Given the description of an element on the screen output the (x, y) to click on. 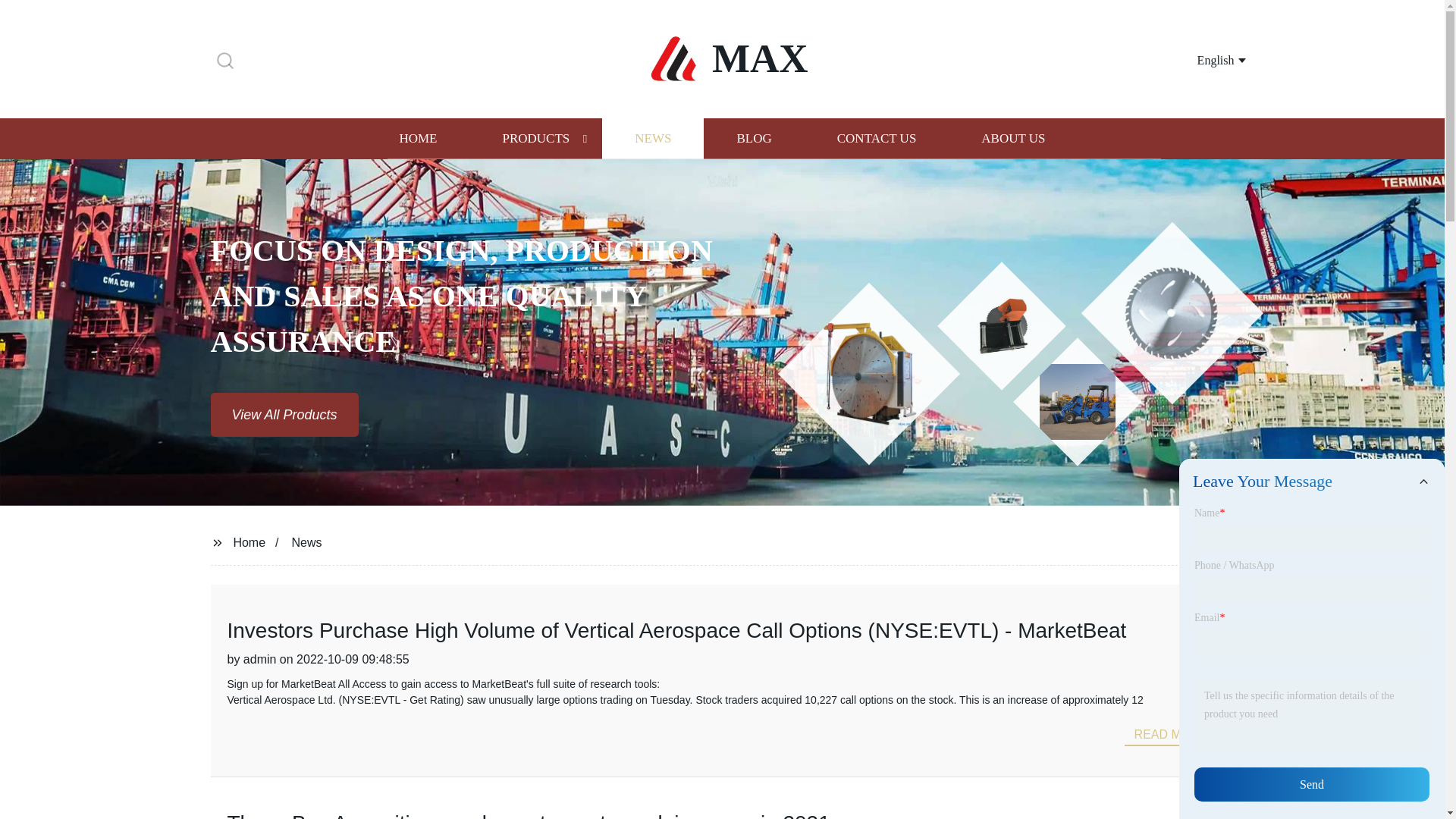
READ MORE (1170, 734)
Top (1404, 776)
PRODUCTS (535, 137)
NEWS (652, 137)
Home (248, 541)
HOME (417, 137)
English (1203, 59)
BLOG (753, 137)
News (306, 541)
CONTACT US (877, 137)
English (1203, 59)
ABOUT US (1013, 137)
